Given the description of an element on the screen output the (x, y) to click on. 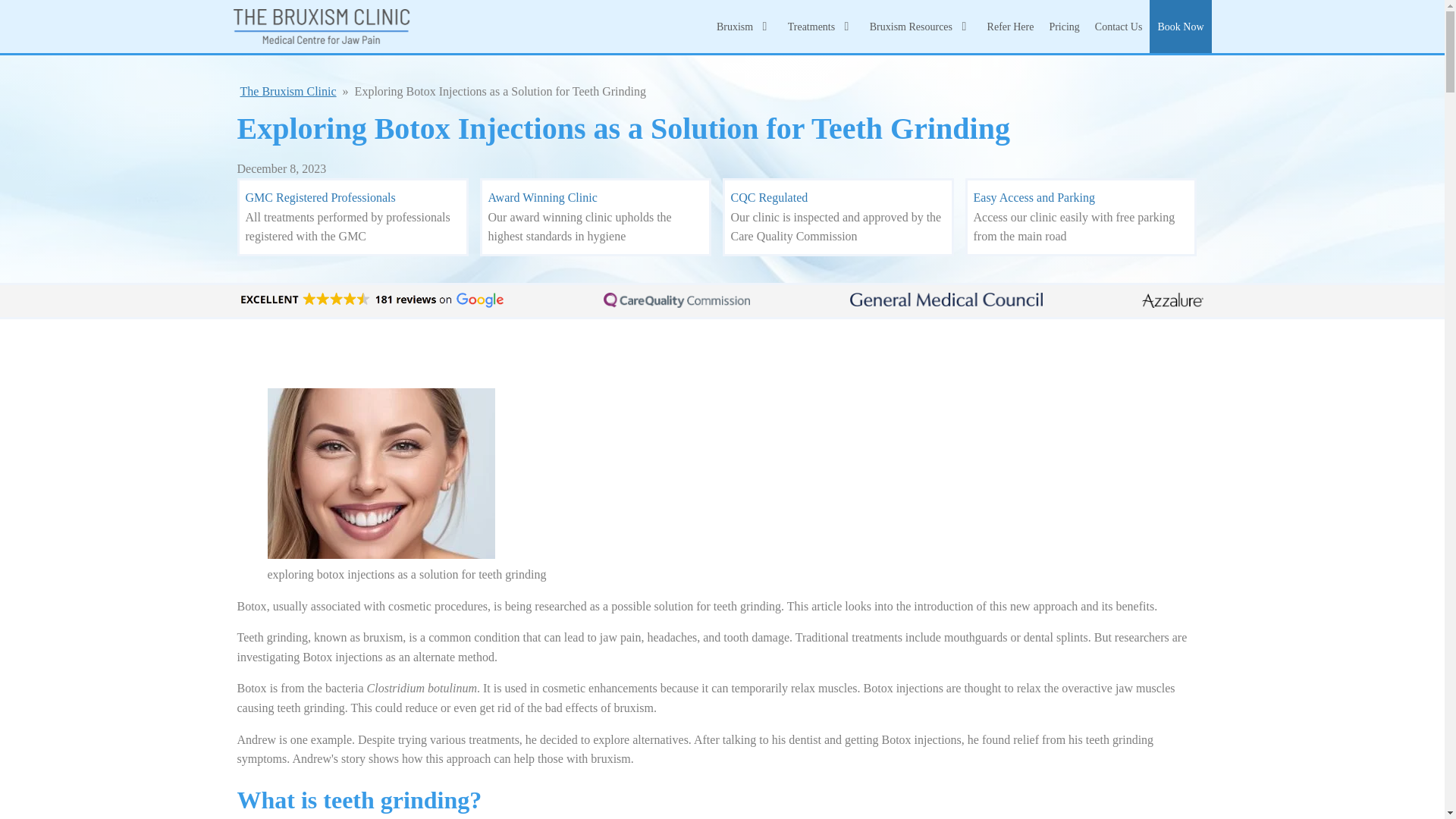
Treatments (820, 25)
Breadcrumb link to The Bruxism Clinic (288, 91)
Refer Here (1010, 25)
Book Now (1180, 25)
Contact Us (1118, 25)
Bruxism Resources (920, 25)
Bruxism (744, 25)
